Given the description of an element on the screen output the (x, y) to click on. 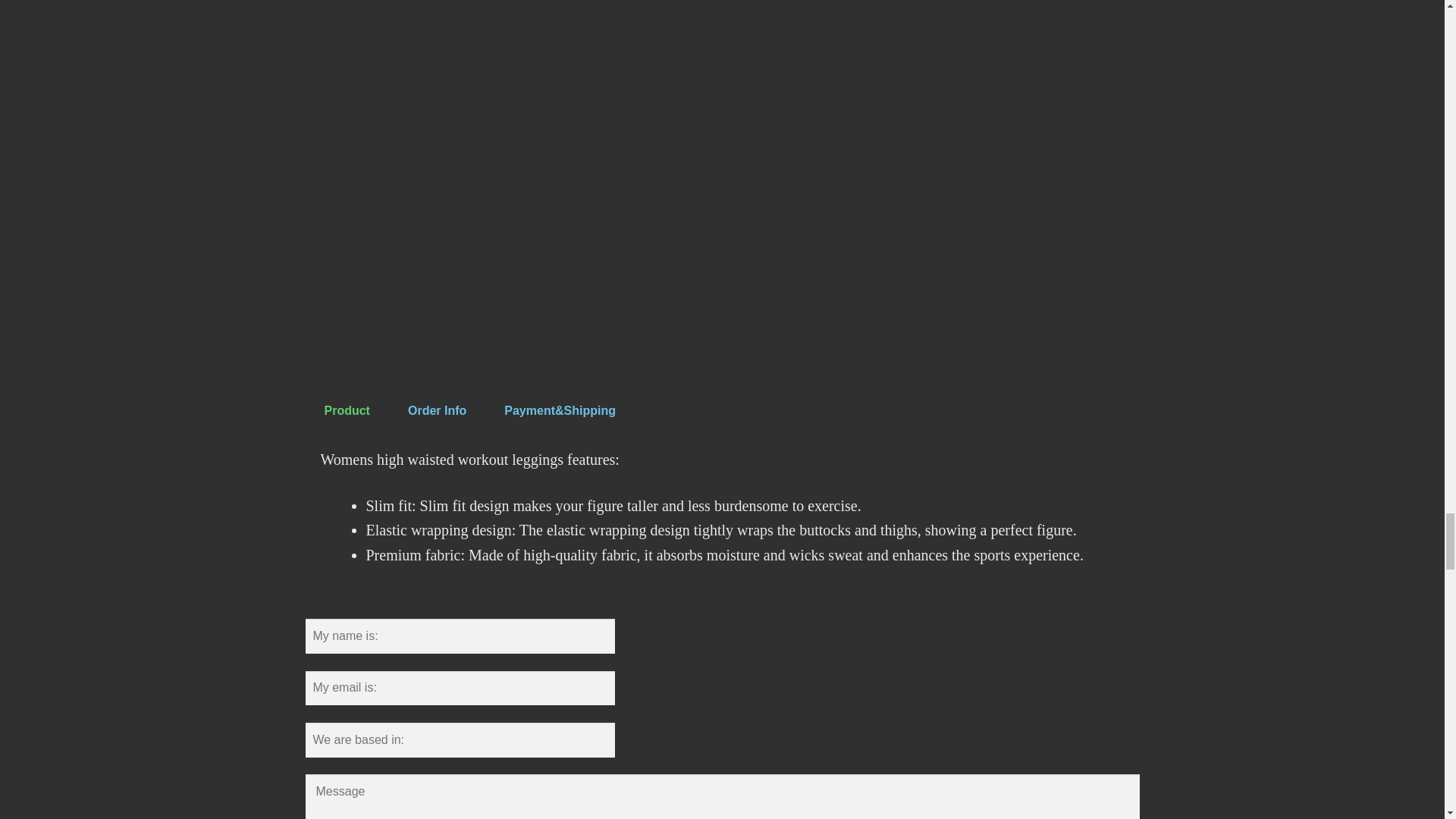
Order Info (436, 410)
Product (346, 410)
